Given the description of an element on the screen output the (x, y) to click on. 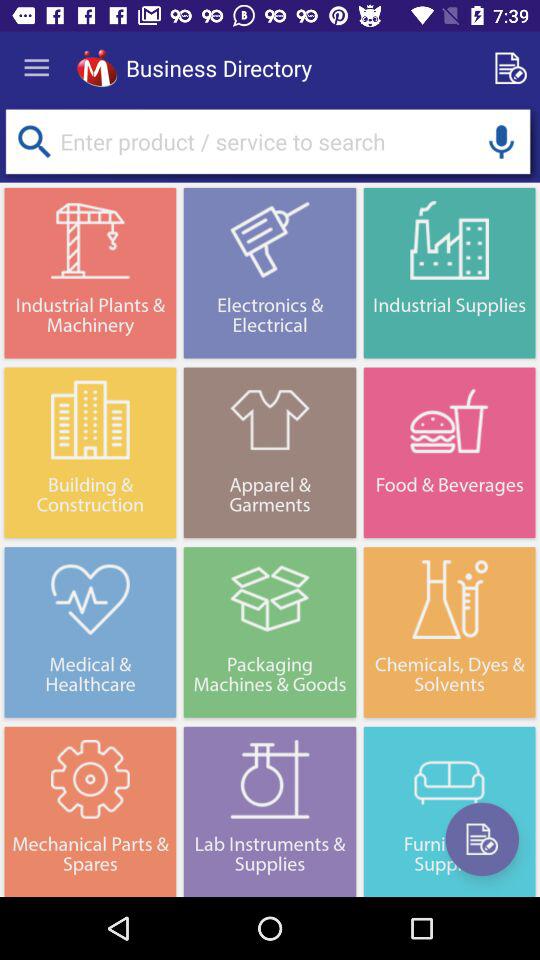
add new details (482, 839)
